Given the description of an element on the screen output the (x, y) to click on. 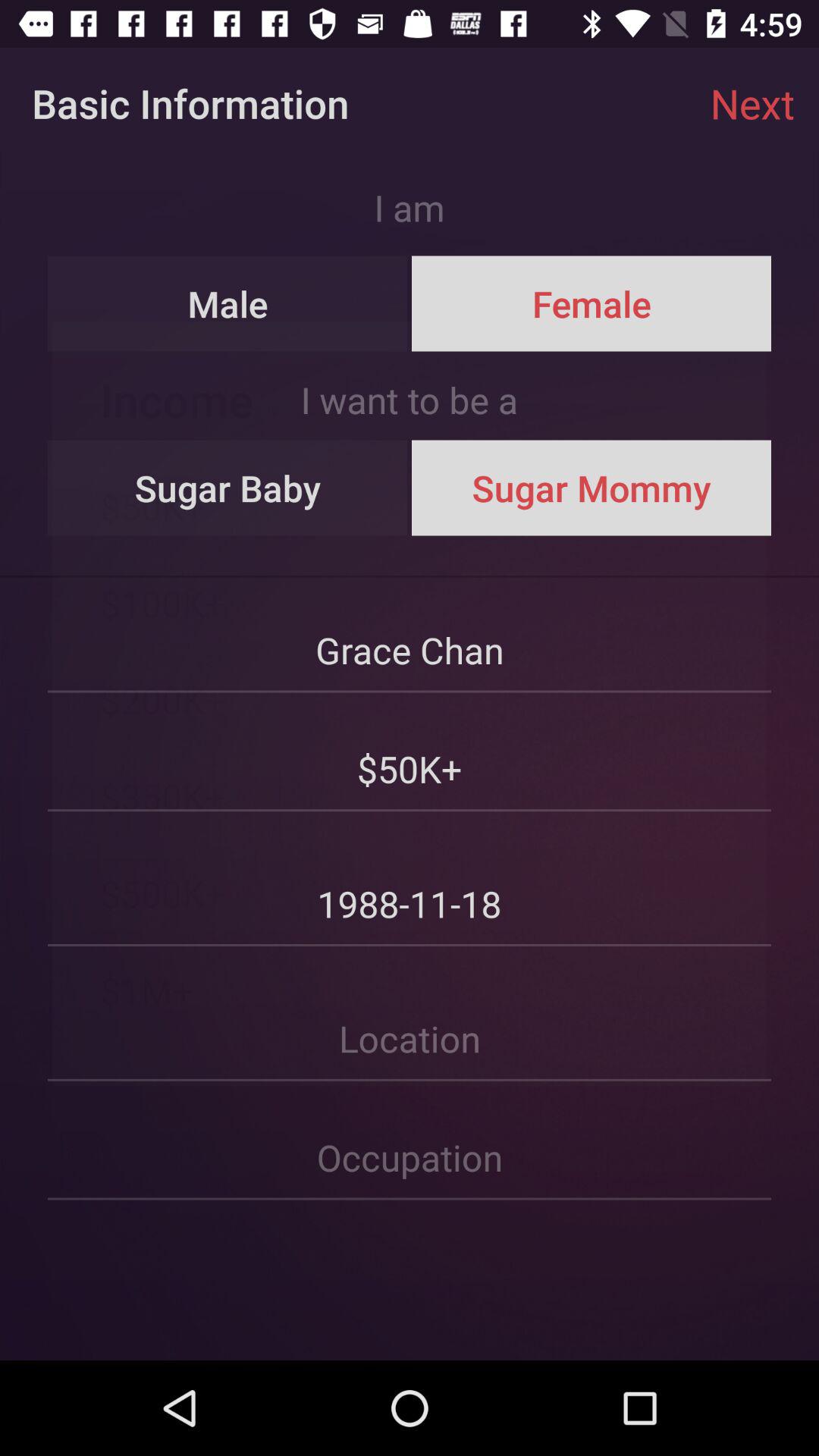
because back devicer (409, 1141)
